Given the description of an element on the screen output the (x, y) to click on. 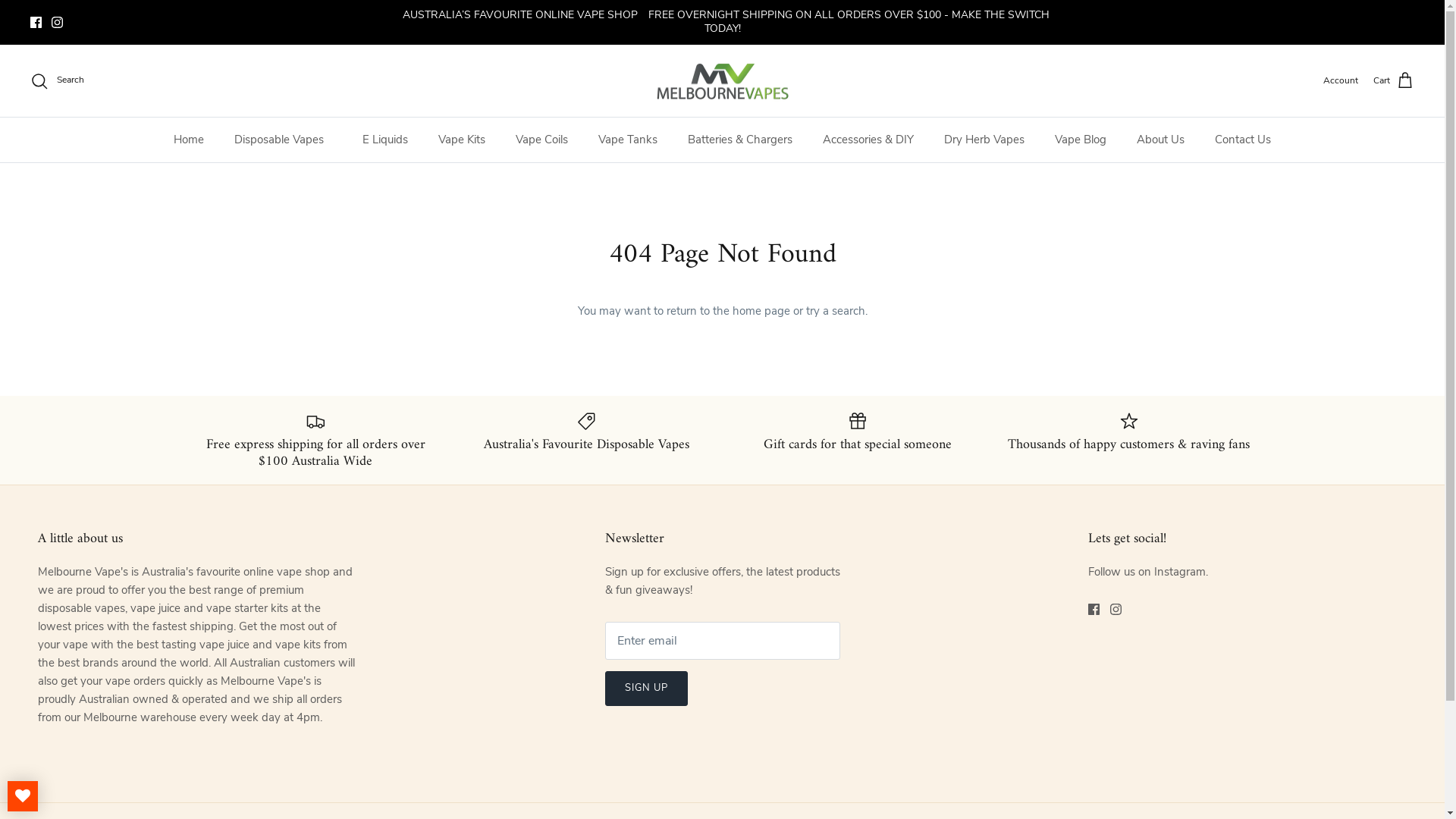
Facebook Element type: text (35, 22)
Vape Blog Element type: text (1080, 139)
Australia's Favourite Disposable Vapes Element type: text (586, 432)
SIGN UP Element type: text (646, 688)
About Us Element type: text (1160, 139)
Vape Coils Element type: text (541, 139)
Gift cards for that special someone Element type: text (858, 432)
Cart Element type: text (1393, 81)
Vape Tanks Element type: text (627, 139)
Accessories & DIY Element type: text (868, 139)
Contact Us Element type: text (1242, 139)
Search Element type: text (57, 80)
Account Element type: text (1340, 80)
Facebook Element type: text (1093, 609)
Vape Kits Element type: text (461, 139)
Batteries & Chargers Element type: text (740, 139)
Instagram Element type: text (56, 22)
home page Element type: text (761, 310)
MelbourneSales Element type: hover (722, 80)
Home Element type: text (188, 139)
Instagram Element type: text (1115, 609)
try a search Element type: text (834, 310)
E Liquids Element type: text (384, 139)
MY WISHLIST Element type: text (22, 796)
Dry Herb Vapes Element type: text (984, 139)
